Given the description of an element on the screen output the (x, y) to click on. 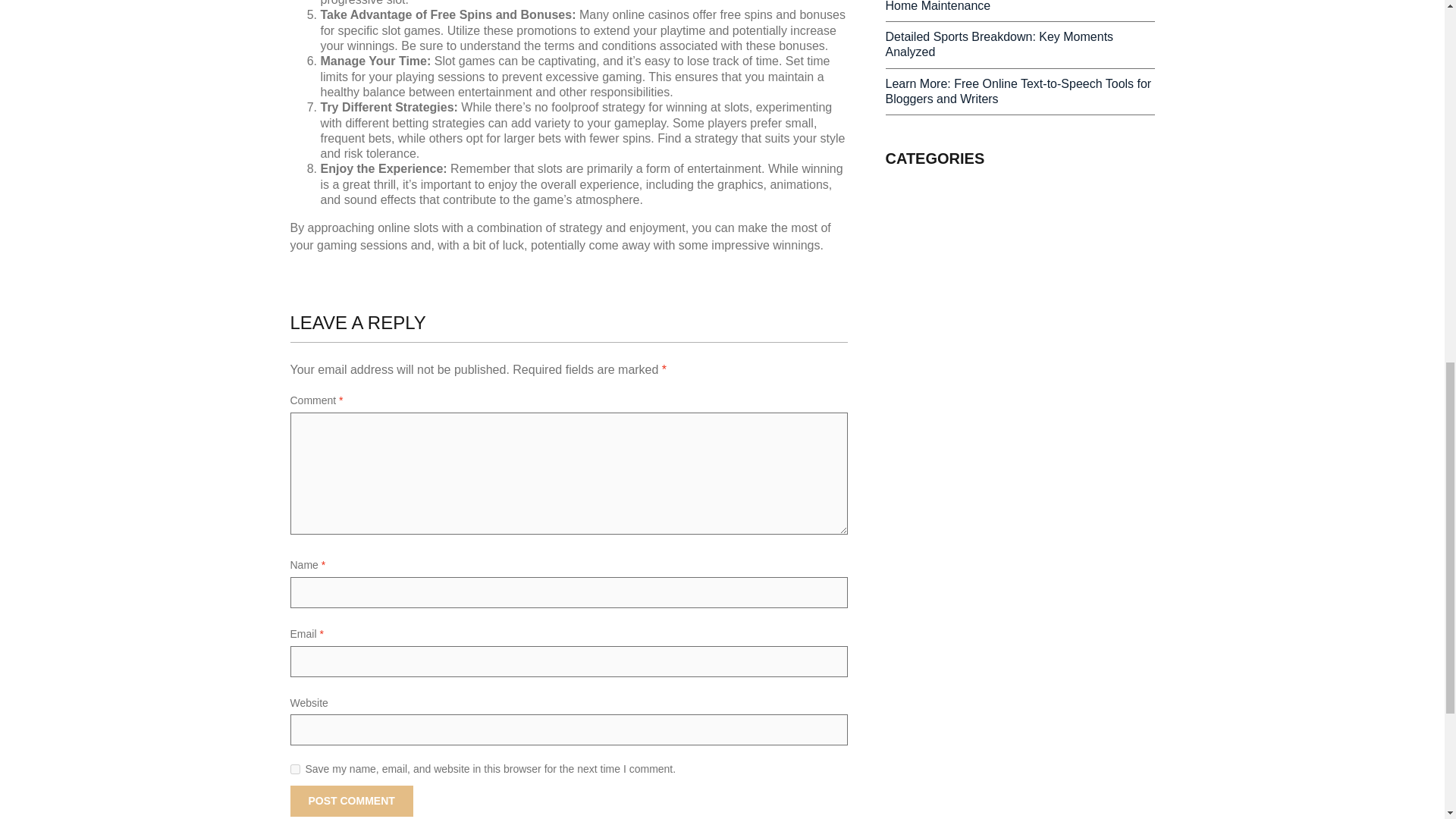
yes (294, 768)
Post Comment (350, 800)
Post Comment (350, 800)
